Given the description of an element on the screen output the (x, y) to click on. 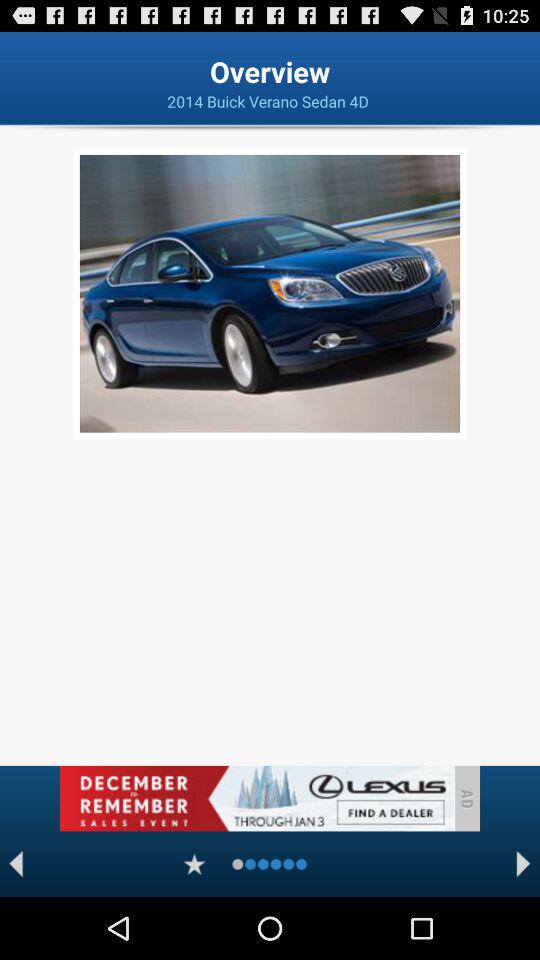
backword option (16, 864)
